Given the description of an element on the screen output the (x, y) to click on. 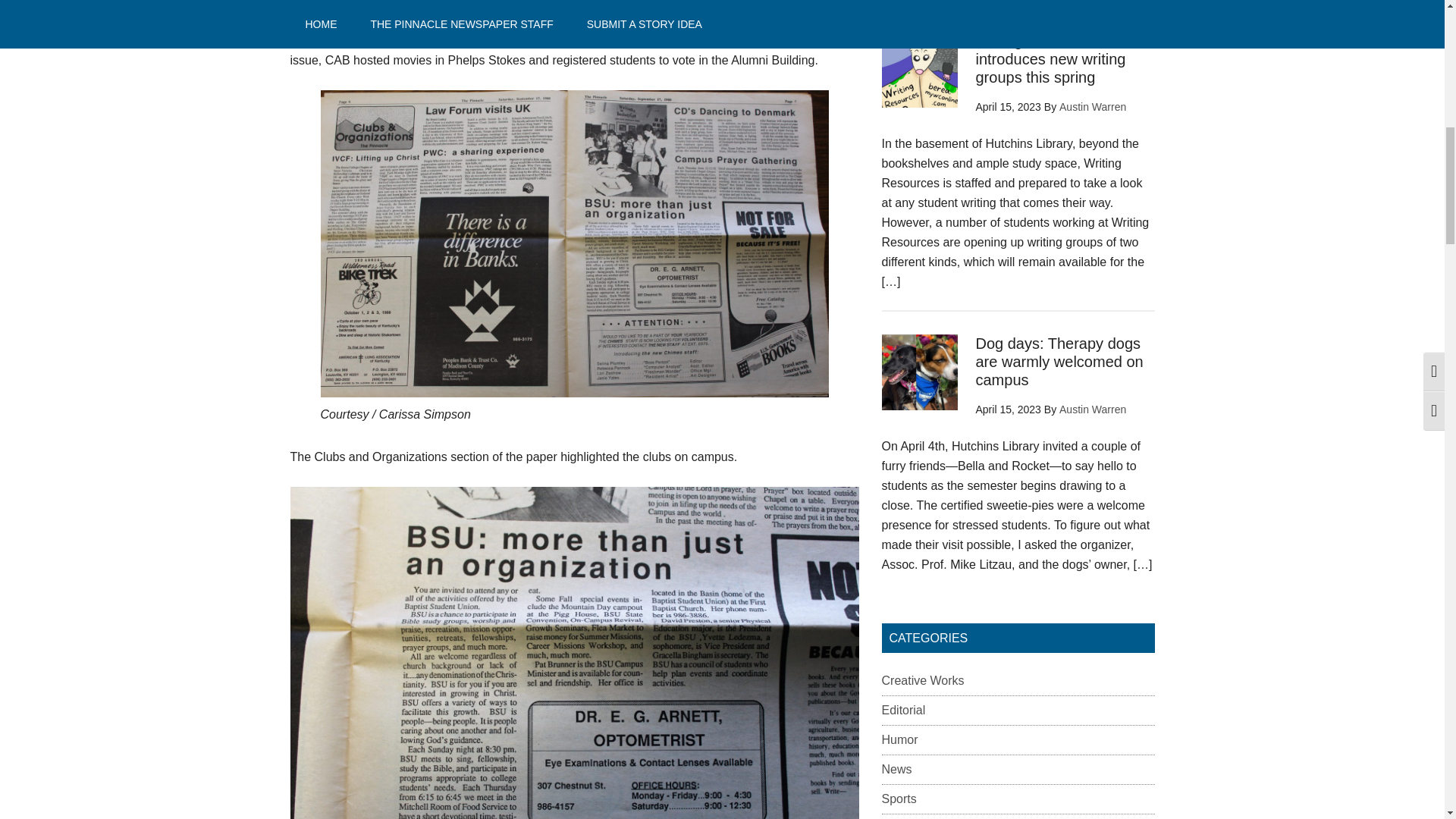
Dog days: Therapy dogs are warmly welcomed on campus (1058, 361)
Humor (898, 739)
Creative Works (921, 680)
Sports (897, 798)
Austin Warren (1092, 106)
Writing Resources introduces new writing groups this spring (1050, 58)
News (895, 768)
Austin Warren (1092, 409)
Editorial (902, 709)
